Given the description of an element on the screen output the (x, y) to click on. 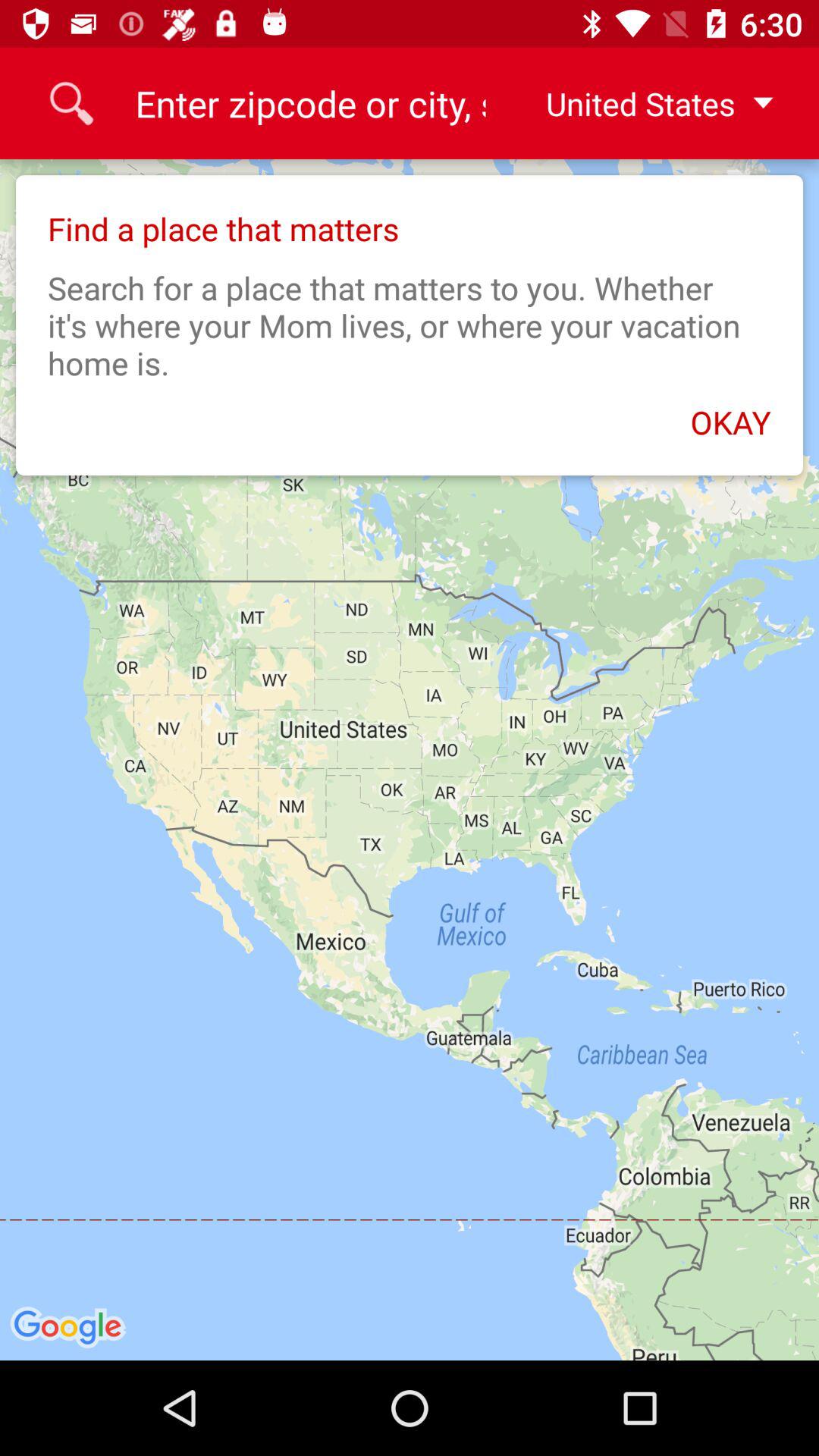
turn off the united states (647, 103)
